Given the description of an element on the screen output the (x, y) to click on. 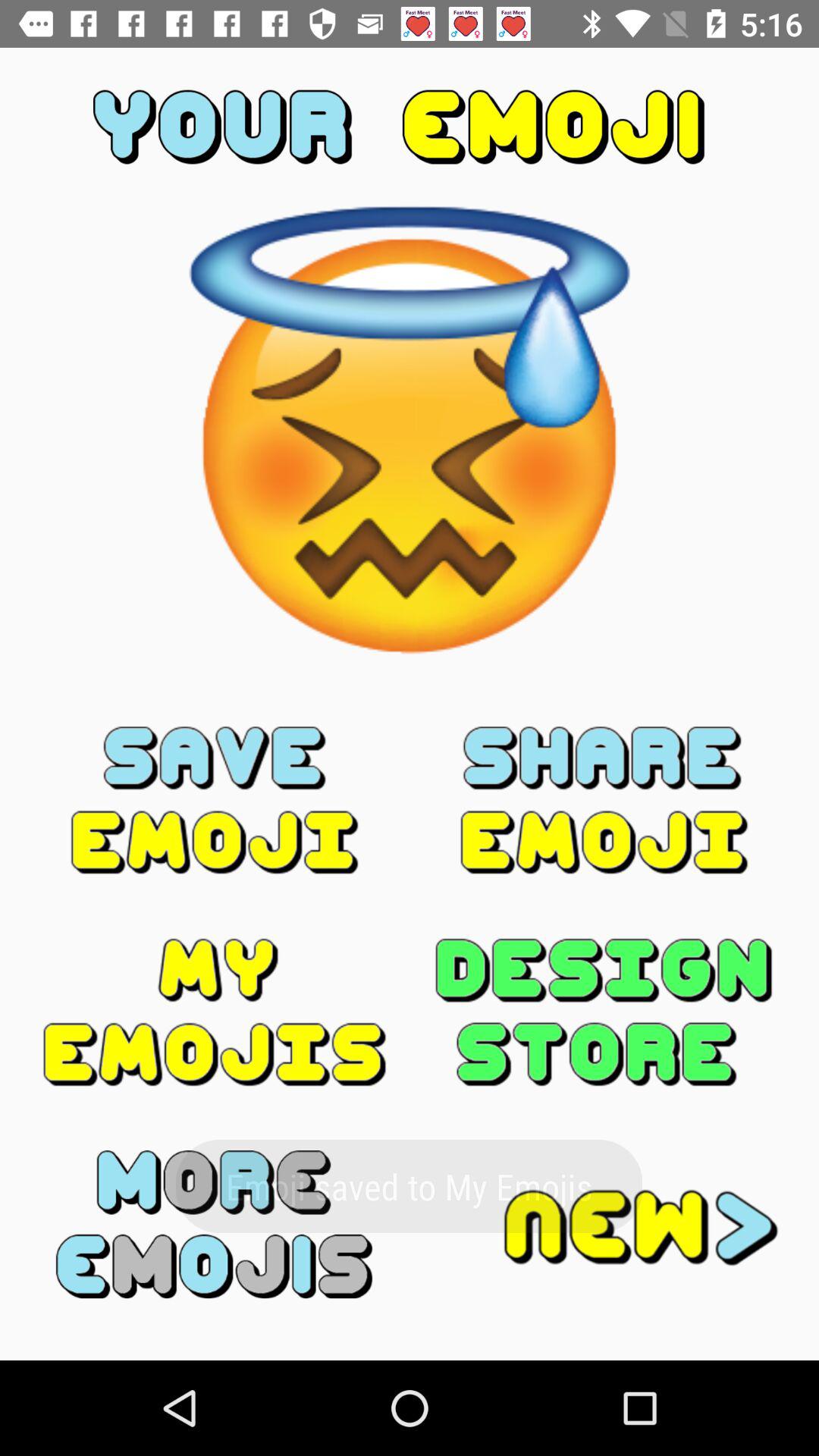
new emoji (604, 1224)
